Given the description of an element on the screen output the (x, y) to click on. 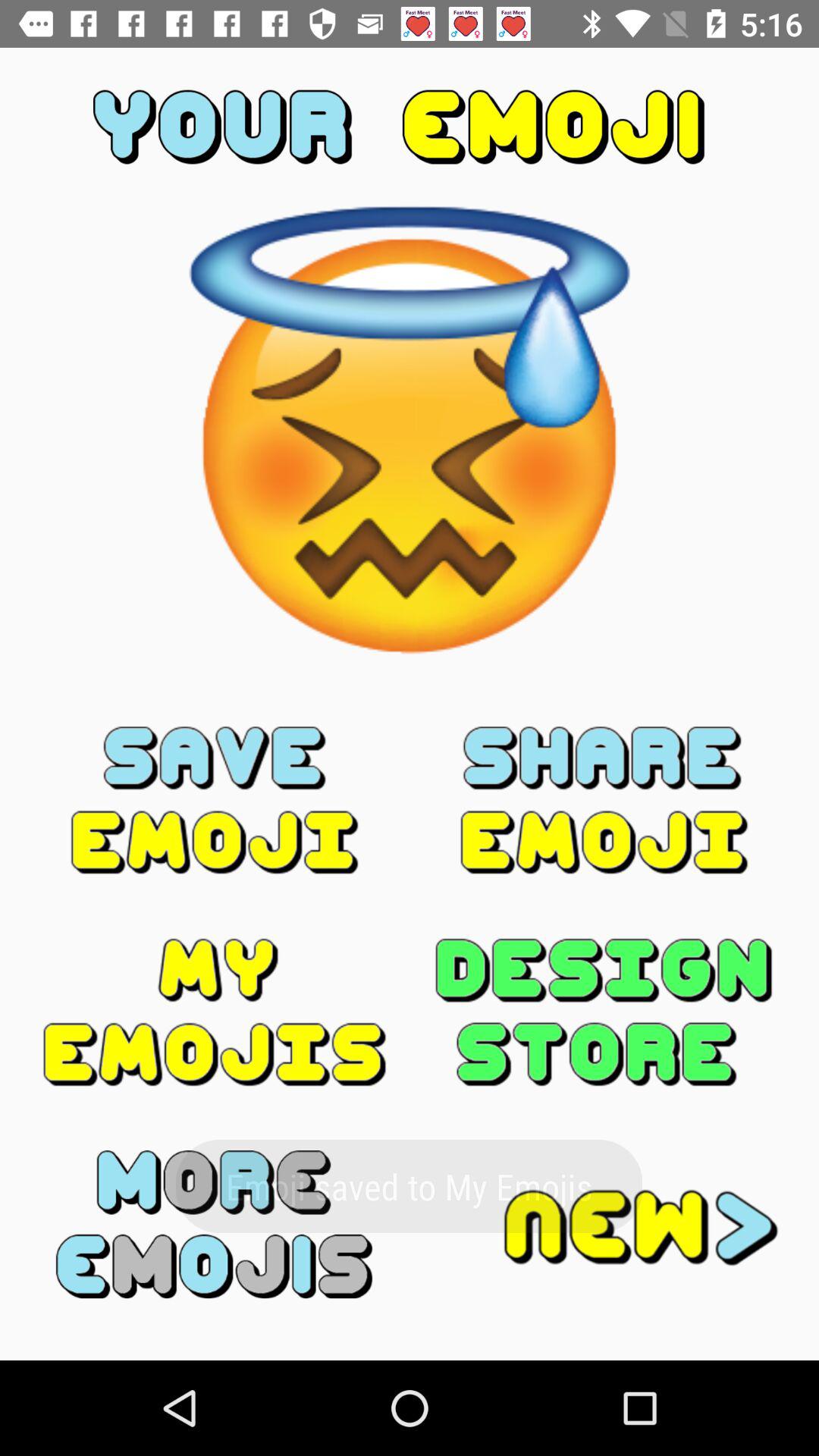
new emoji (604, 1224)
